Given the description of an element on the screen output the (x, y) to click on. 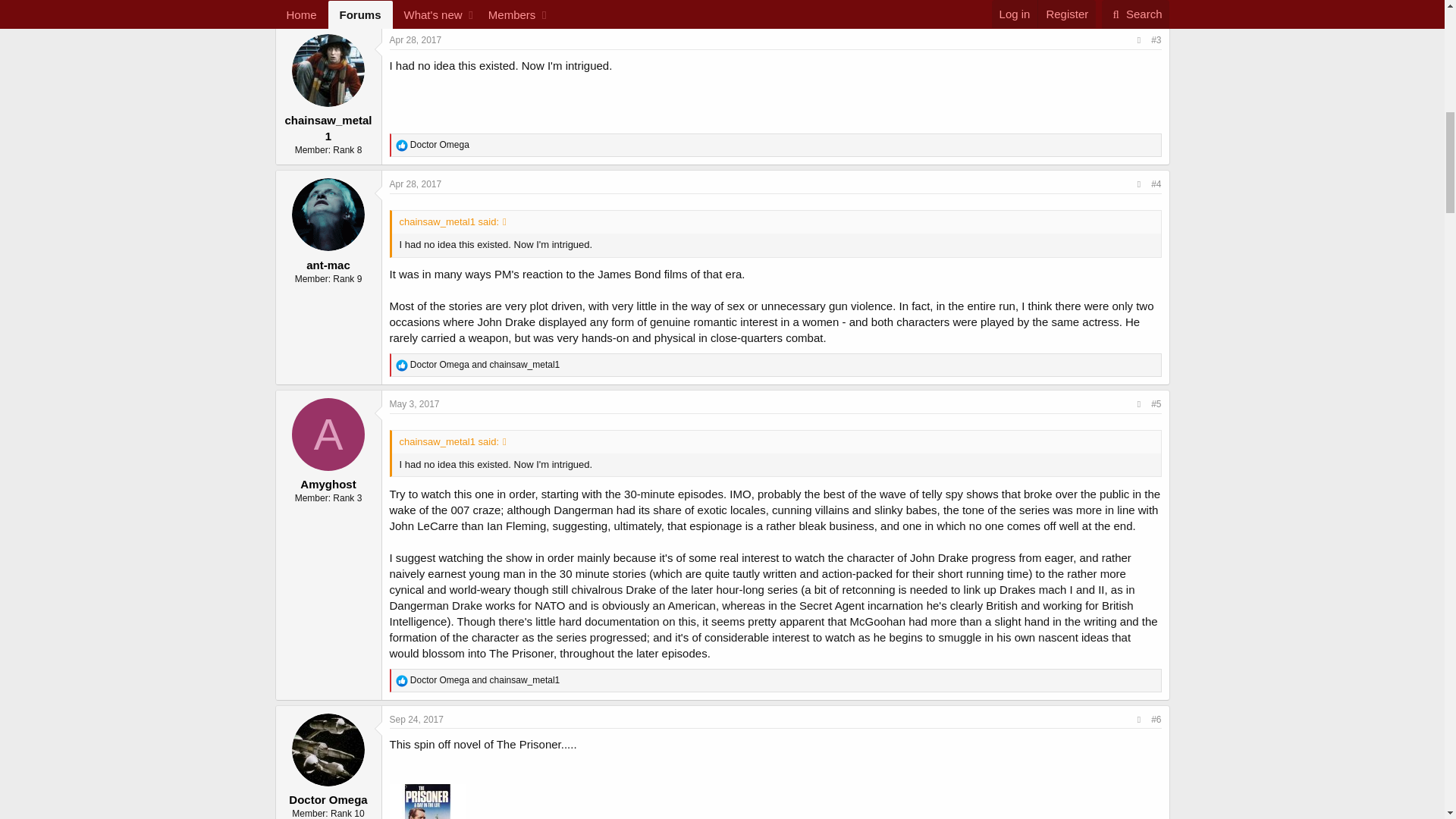
May 3, 2017 at 4:40 AM (414, 403)
Apr 28, 2017 at 4:21 PM (416, 40)
Like (401, 3)
Like (401, 680)
Apr 28, 2017 at 4:46 PM (416, 184)
Like (401, 145)
Like (401, 365)
Sep 24, 2017 at 3:30 PM (417, 719)
